Given the description of an element on the screen output the (x, y) to click on. 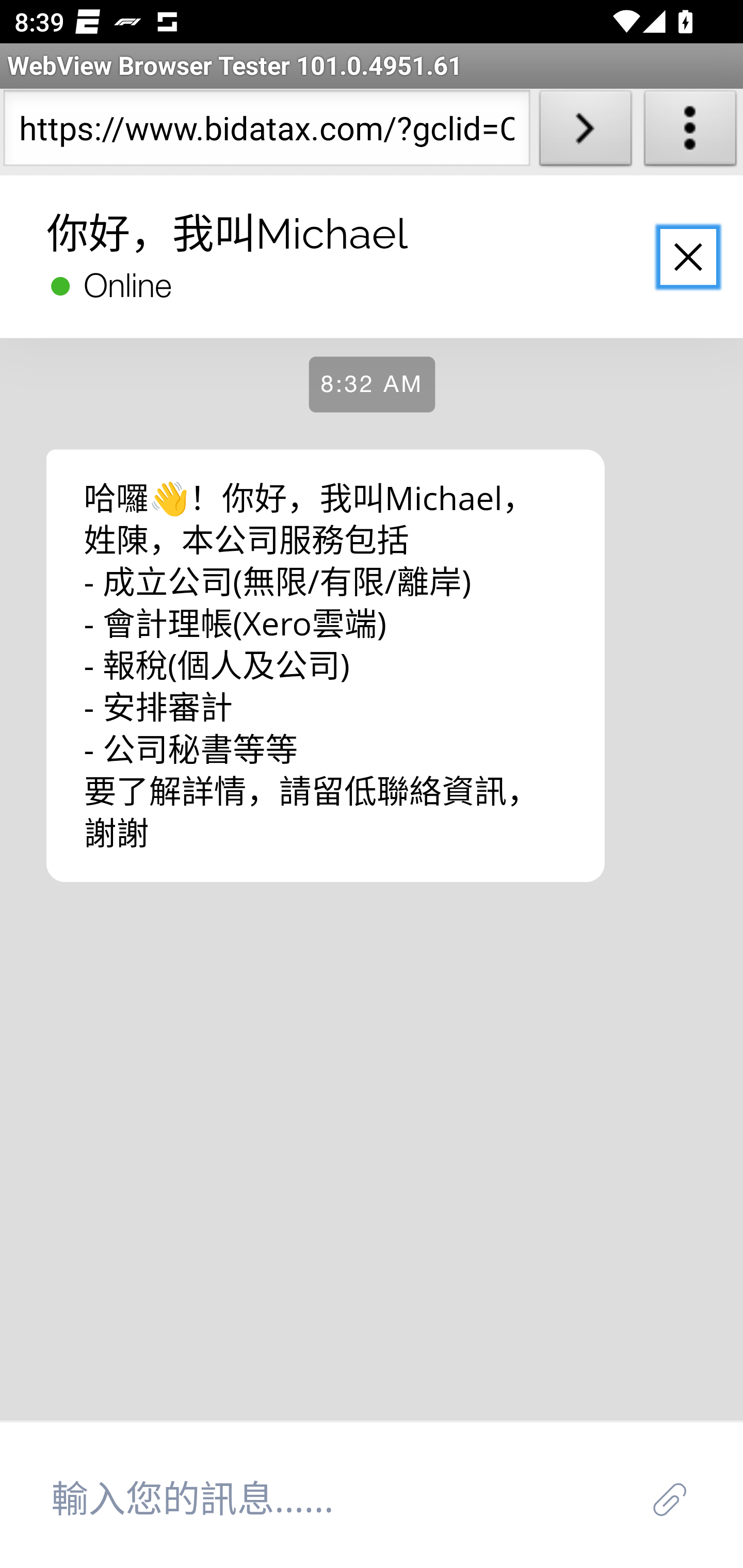
Load URL (585, 132)
About WebView (690, 132)
